Given the description of an element on the screen output the (x, y) to click on. 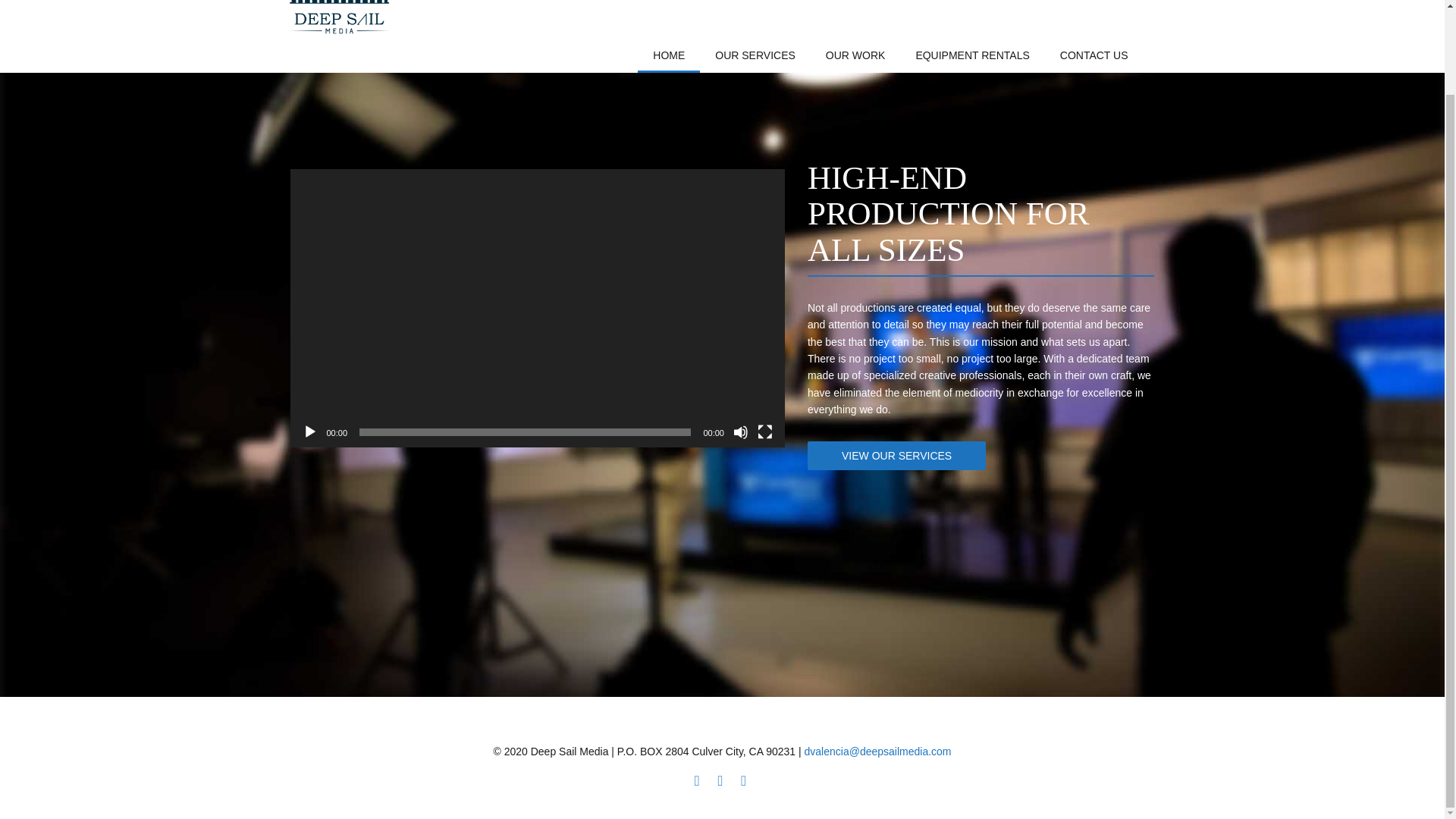
TWITTER (720, 780)
HOME (668, 56)
INSTAGRAM (742, 780)
Fullscreen (765, 432)
VIEW OUR SERVICES (896, 455)
FACEBOOK (696, 780)
Facebook (696, 780)
Mute (740, 432)
Play (309, 432)
OUR WORK (855, 56)
Instagram (742, 780)
CONTACT US (1093, 56)
EQUIPMENT RENTALS (971, 56)
Twitter (720, 780)
OUR SERVICES (755, 56)
